Given the description of an element on the screen output the (x, y) to click on. 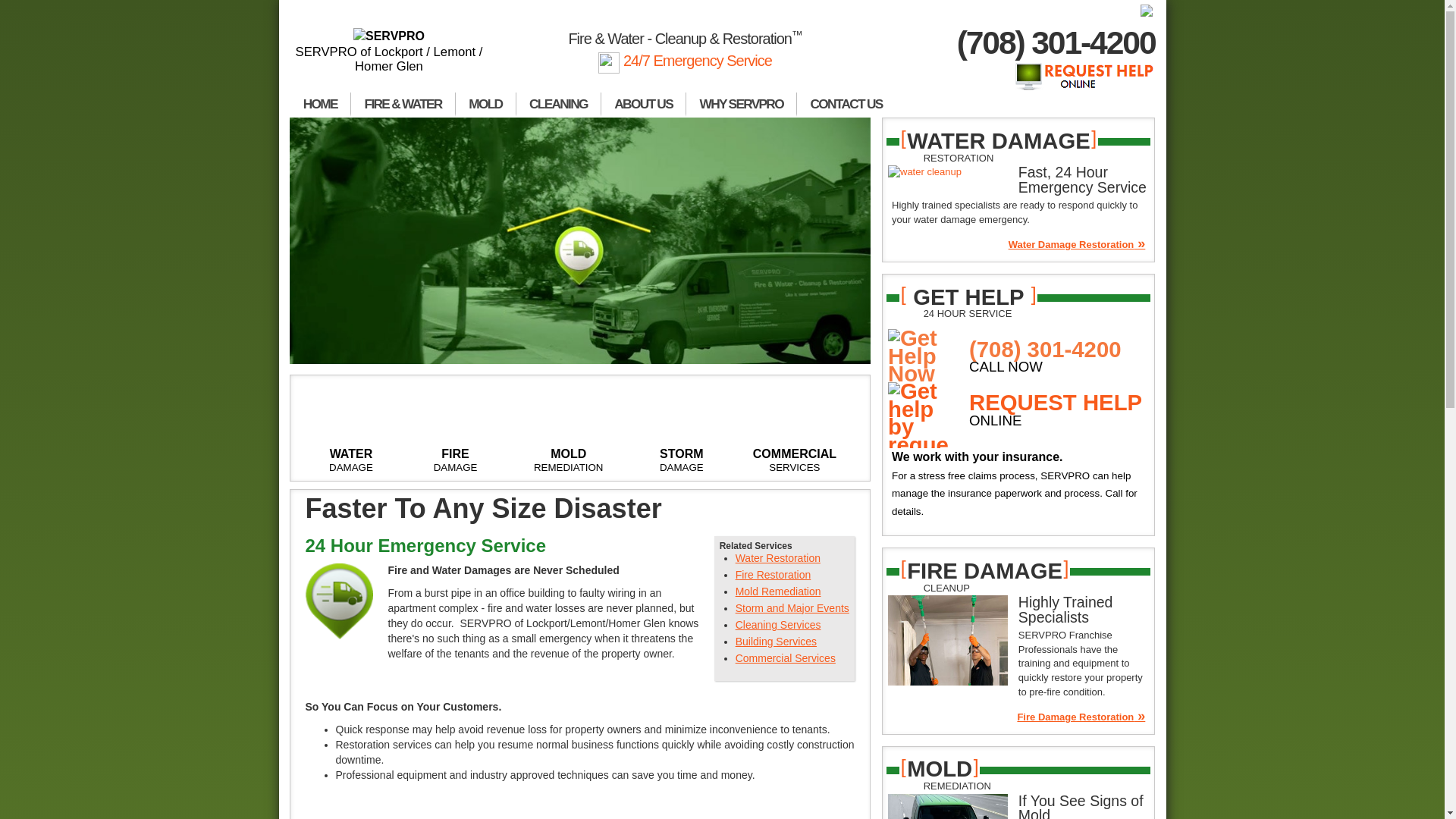
MOLD (485, 104)
HOME (319, 104)
CLEANING (558, 104)
ABOUT US (643, 104)
